Given the description of an element on the screen output the (x, y) to click on. 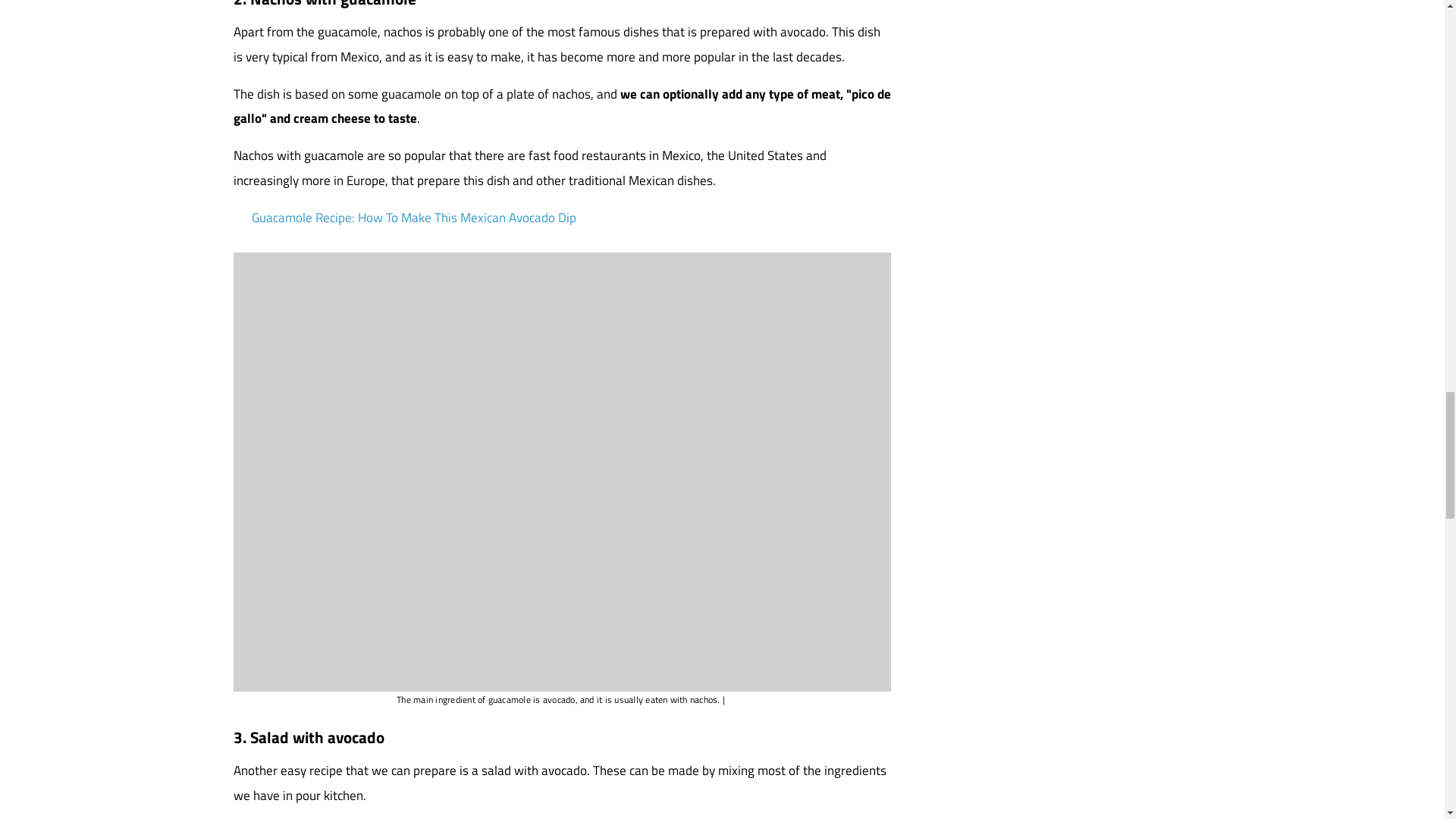
Guacamole recipe (413, 217)
Guacamole Recipe: How To Make This Mexican Avocado Dip (413, 217)
